Given the description of an element on the screen output the (x, y) to click on. 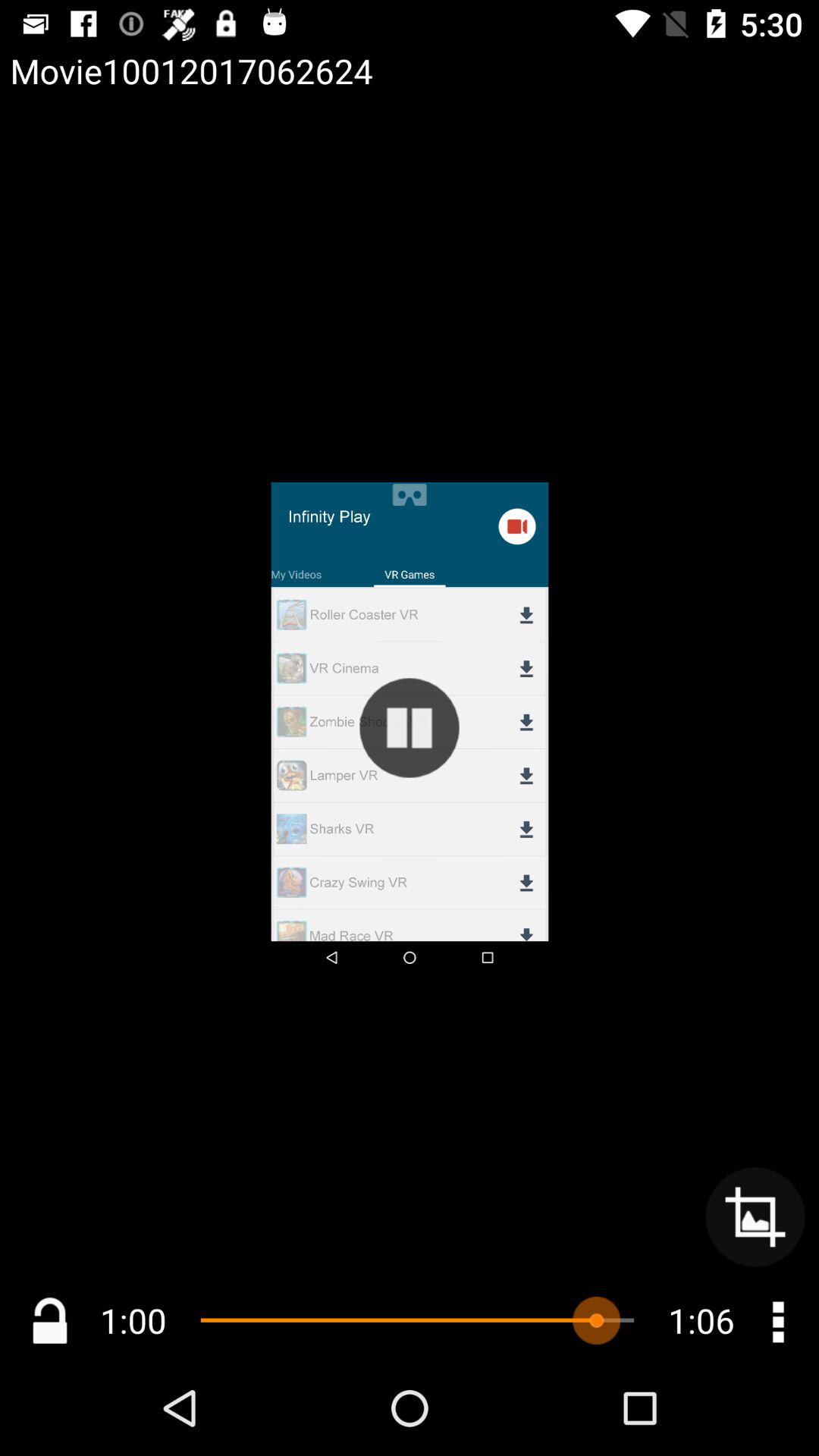
play button (409, 727)
